Given the description of an element on the screen output the (x, y) to click on. 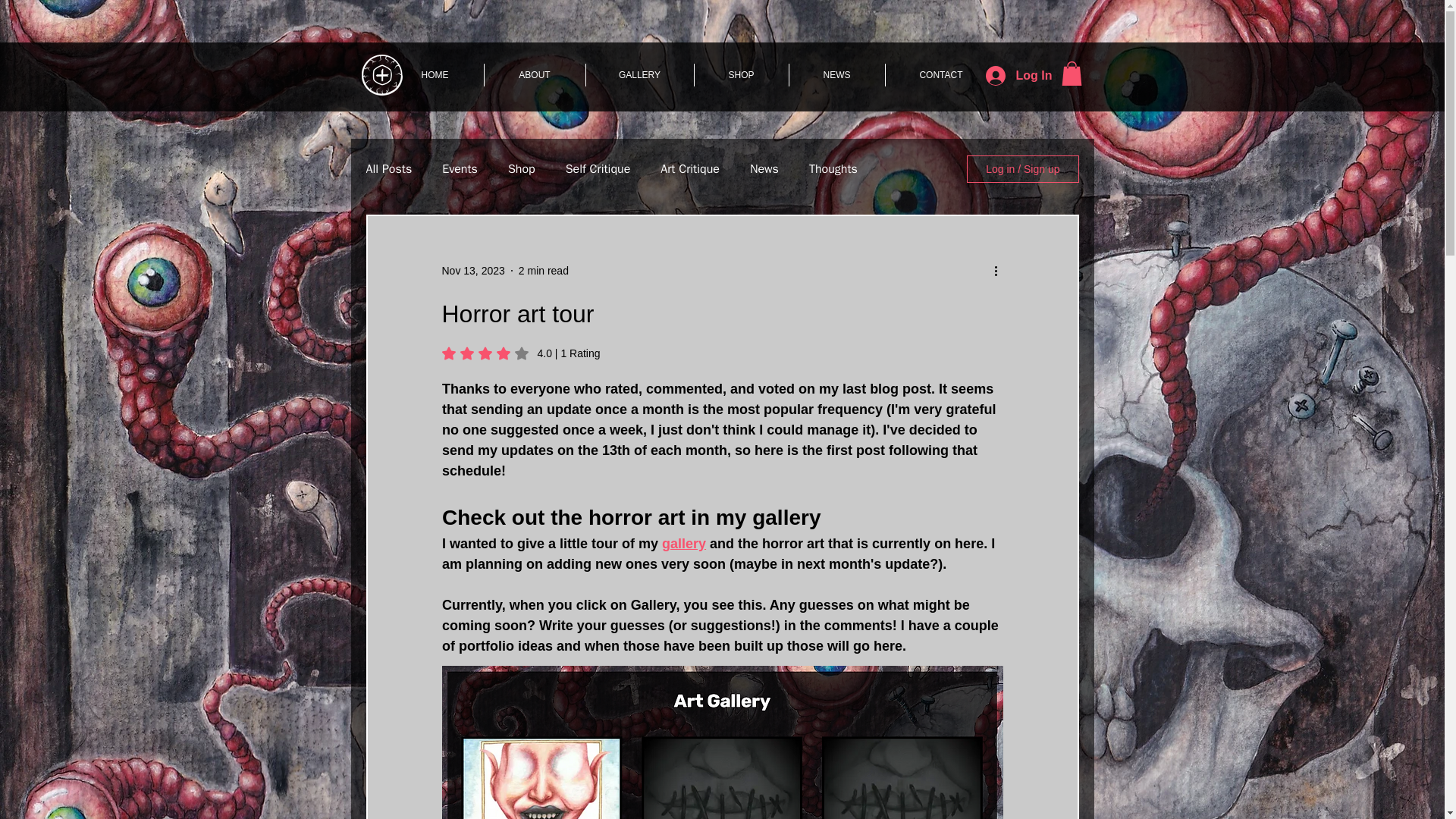
Art Critique (690, 169)
SHOP (741, 74)
GALLERY (639, 74)
Events (459, 169)
Shop (521, 169)
CONTACT (941, 74)
Thoughts (833, 169)
Self Critique (598, 169)
HOME (435, 74)
2 min read (543, 270)
ABOUT (534, 74)
gallery (684, 543)
Nov 13, 2023 (472, 270)
All Posts (388, 169)
Log In (1015, 74)
